Given the description of an element on the screen output the (x, y) to click on. 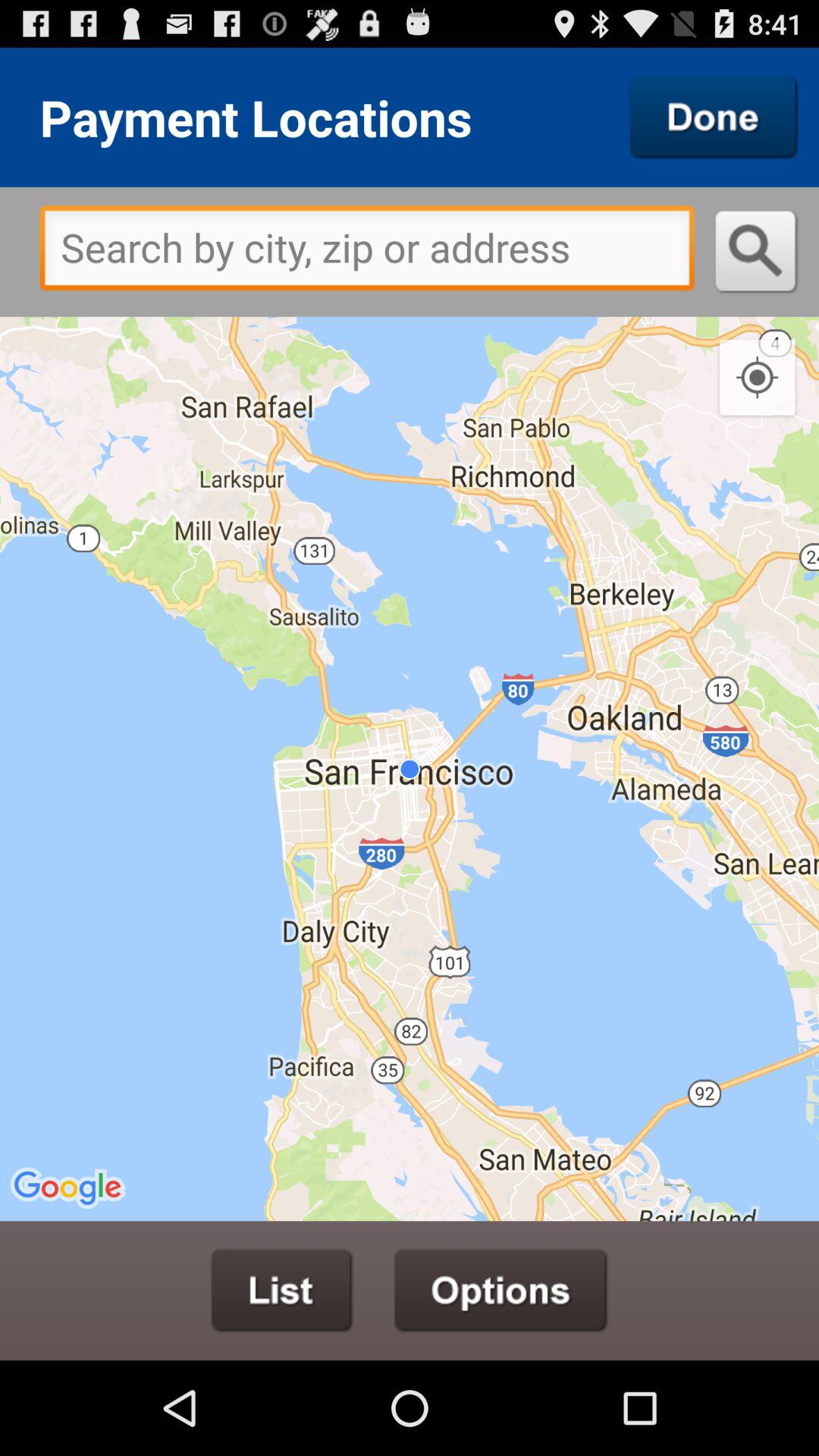
tap item at the top (366, 251)
